Given the description of an element on the screen output the (x, y) to click on. 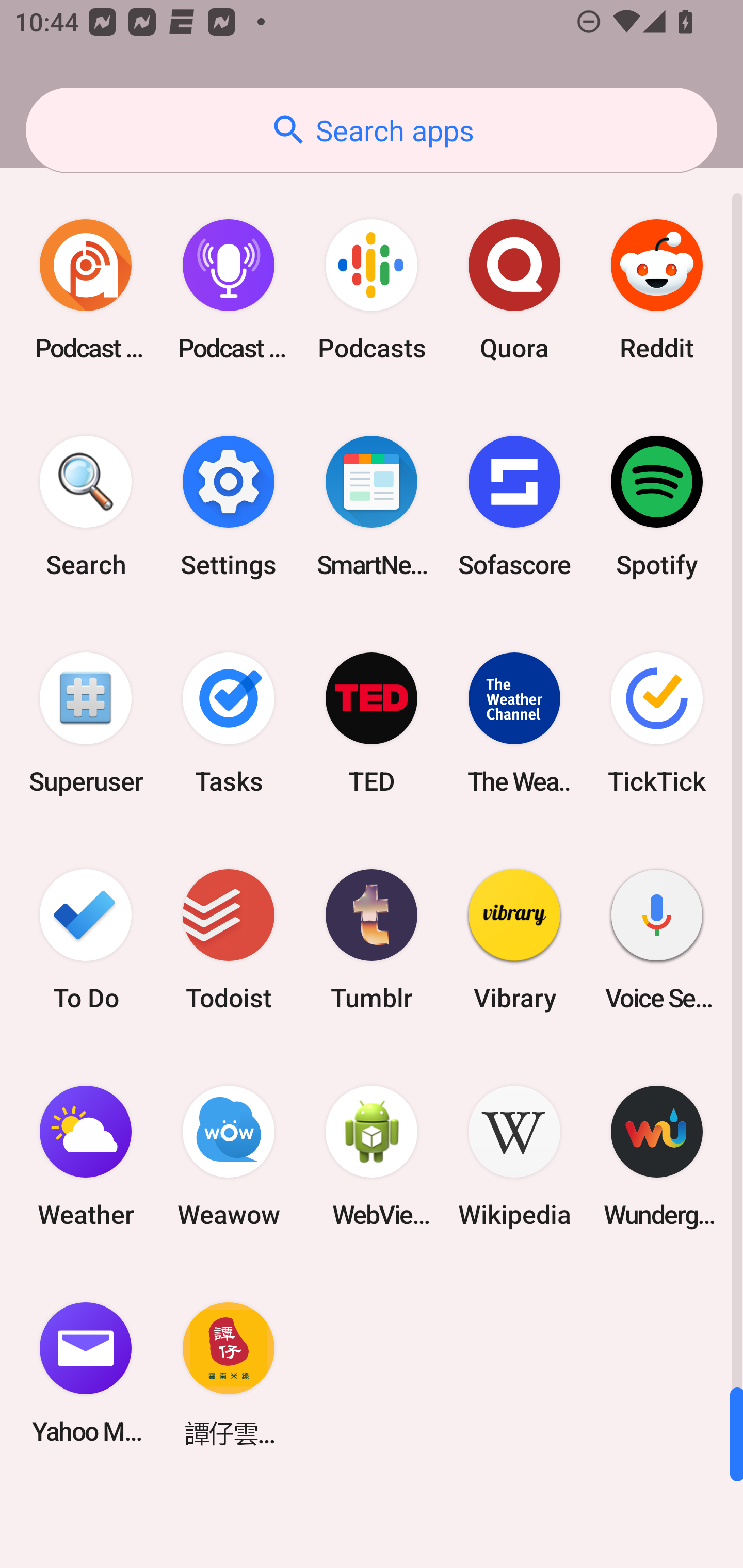
  Search apps (371, 130)
Podcast Addict (85, 289)
Podcast Player (228, 289)
Podcasts (371, 289)
Quora (514, 289)
Reddit (656, 289)
Search (85, 506)
Settings (228, 506)
SmartNews (371, 506)
Sofascore (514, 506)
Spotify (656, 506)
Superuser (85, 722)
Tasks (228, 722)
TED (371, 722)
The Weather Channel (514, 722)
TickTick (656, 722)
To Do (85, 939)
Todoist (228, 939)
Tumblr (371, 939)
Vibrary (514, 939)
Voice Search (656, 939)
Weather (85, 1156)
Weawow (228, 1156)
WebView Browser Tester (371, 1156)
Wikipedia (514, 1156)
Wunderground (656, 1156)
Yahoo Mail (85, 1373)
譚仔雲南米線 (228, 1373)
